Given the description of an element on the screen output the (x, y) to click on. 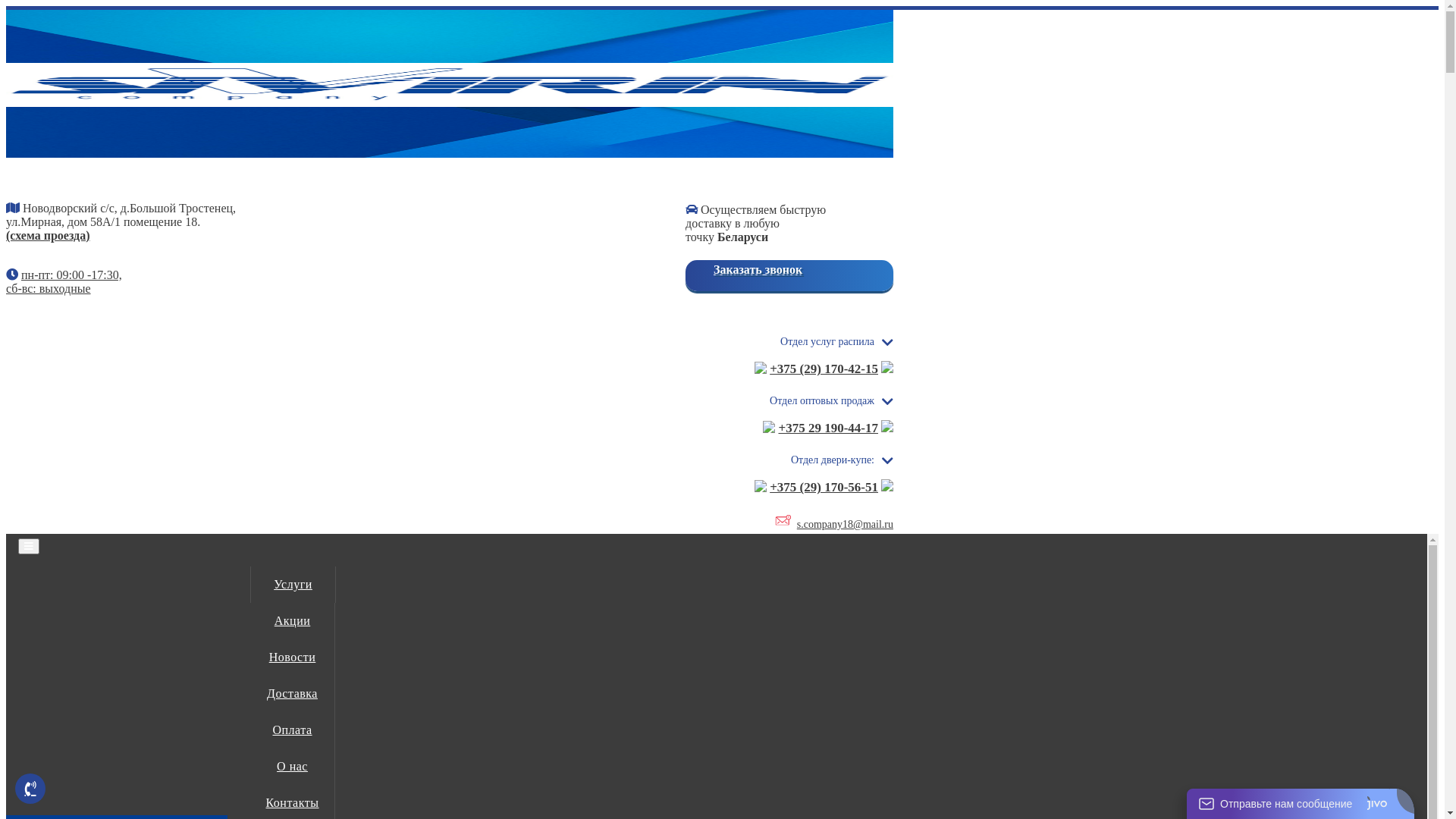
+375 (29) 170-56-51 Element type: text (823, 487)
s.company18@mail.ru Element type: text (845, 524)
+375 29 190-44-17 Element type: text (828, 427)
+375 (29) 170-42-15 Element type: text (823, 368)
